Given the description of an element on the screen output the (x, y) to click on. 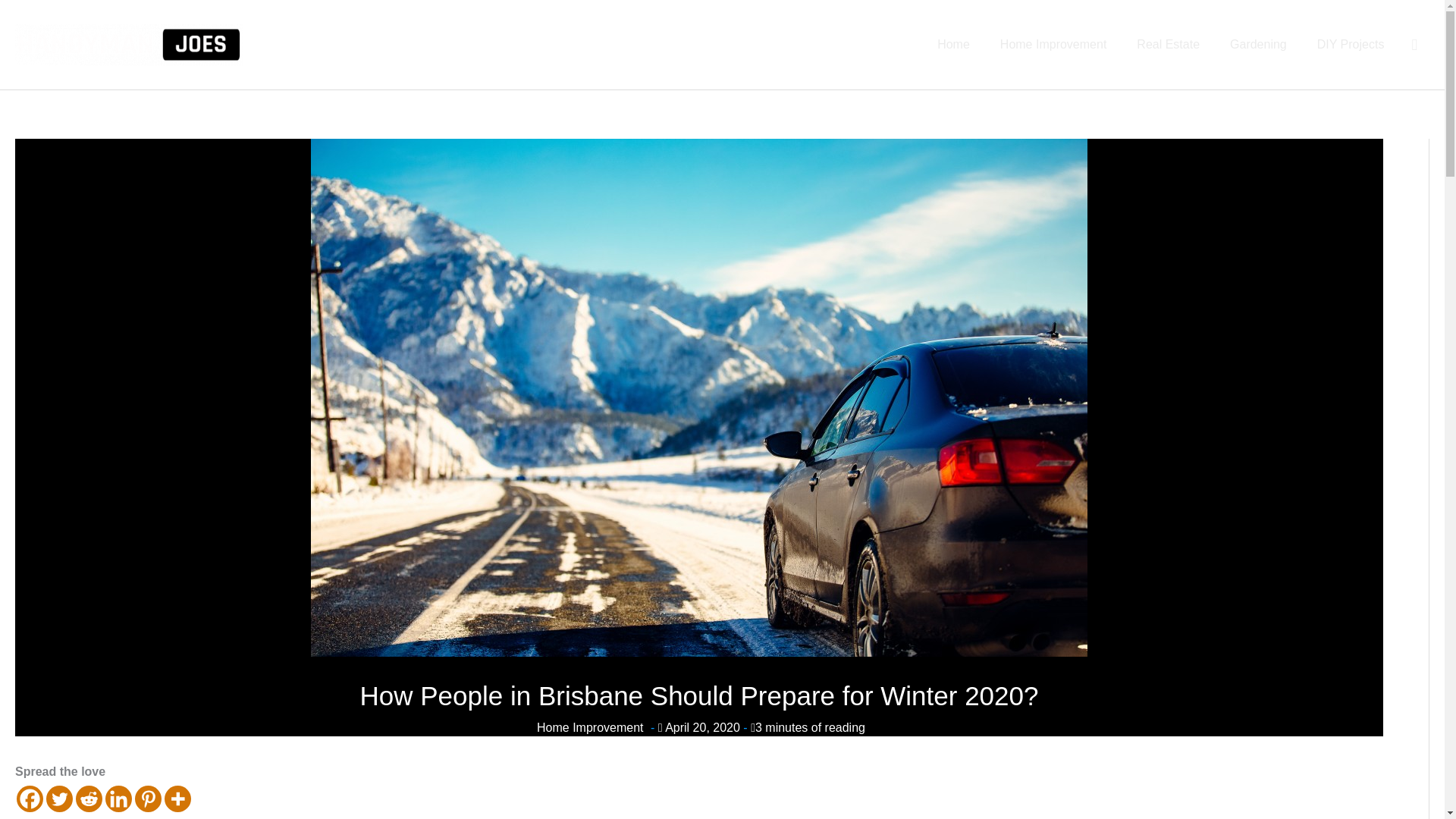
Home Improvement (1053, 44)
Real Estate (1167, 44)
Home (953, 44)
Home Improvement (590, 727)
Facebook (29, 798)
Search (1413, 44)
Twitter (59, 798)
More (177, 798)
DIY Projects (1350, 44)
Gardening (1257, 44)
Reddit (88, 798)
Pinterest (148, 798)
Linkedin (118, 798)
